Given the description of an element on the screen output the (x, y) to click on. 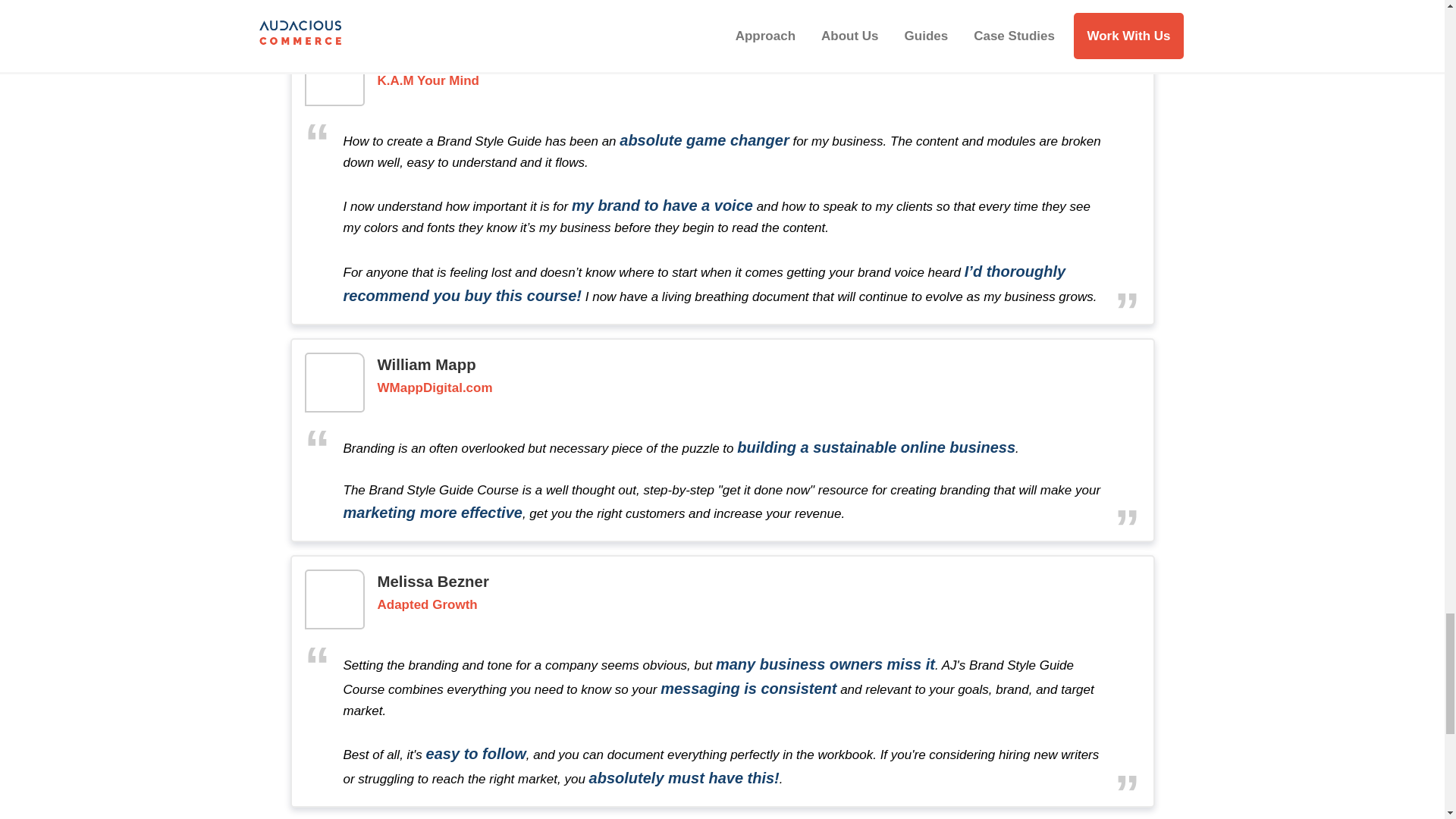
Adapted Growth (427, 605)
WMappDigital.com (435, 388)
K.A.M Your Mind (428, 81)
